Given the description of an element on the screen output the (x, y) to click on. 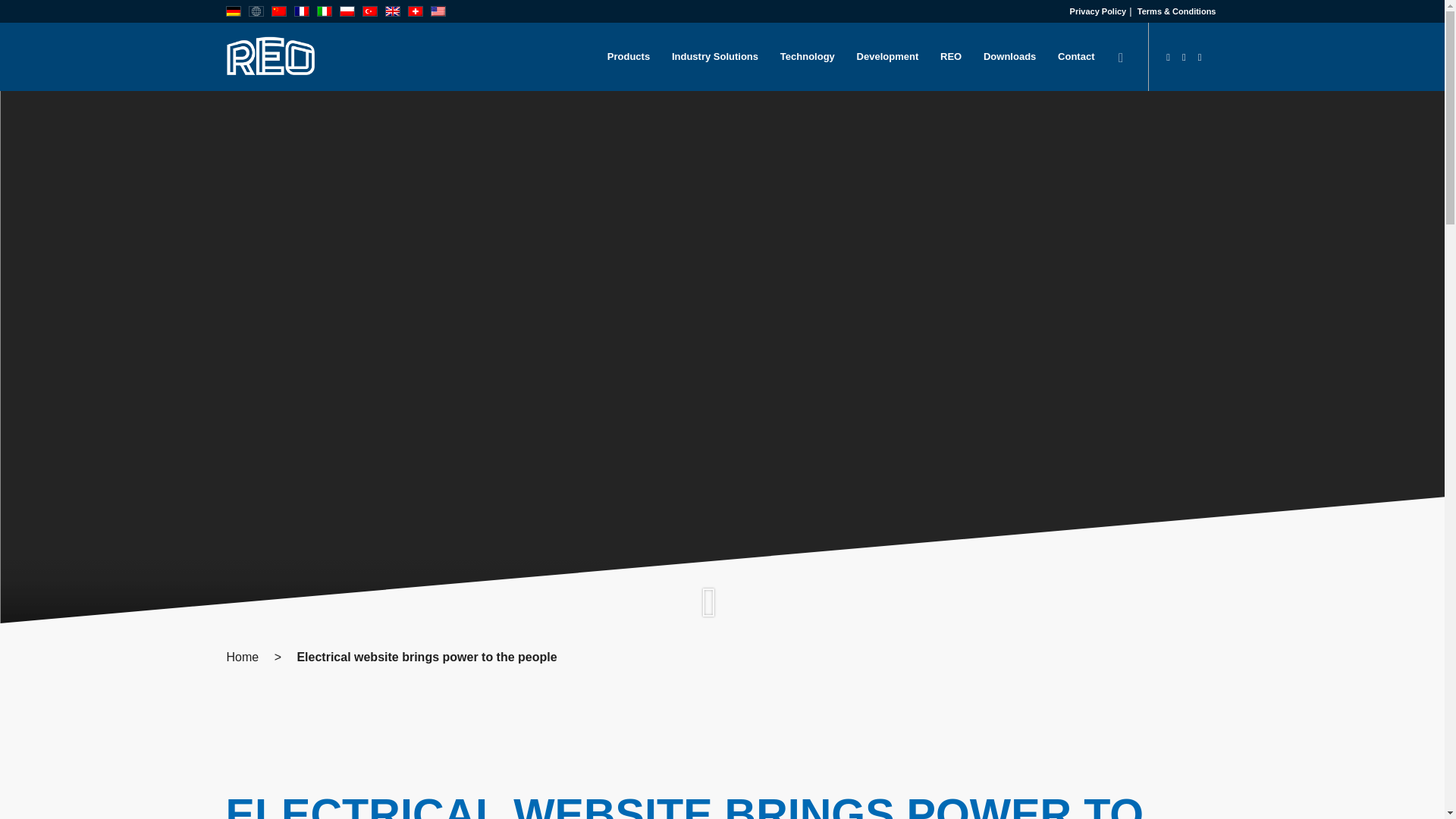
Technology (806, 56)
Privacy Policy (1098, 11)
Industry Solutions (715, 56)
Products (628, 56)
